Given the description of an element on the screen output the (x, y) to click on. 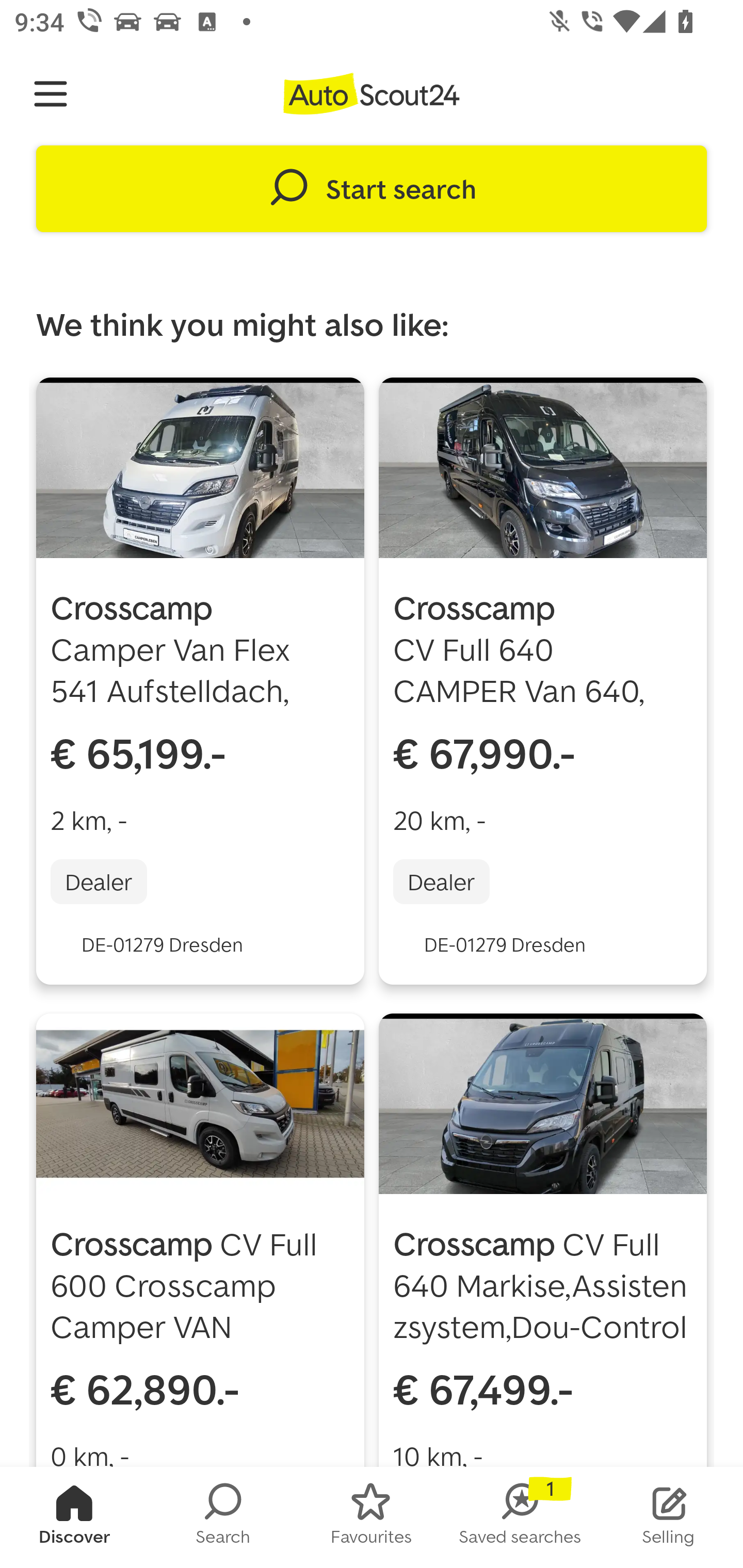
Navigate up (50, 93)
Start search (371, 188)
HOMESCREEN Discover (74, 1517)
SEARCH Search (222, 1517)
FAVORITES Favourites (371, 1517)
SAVED_SEARCHES Saved searches 1 (519, 1517)
STOCK_LIST Selling (668, 1517)
